Given the description of an element on the screen output the (x, y) to click on. 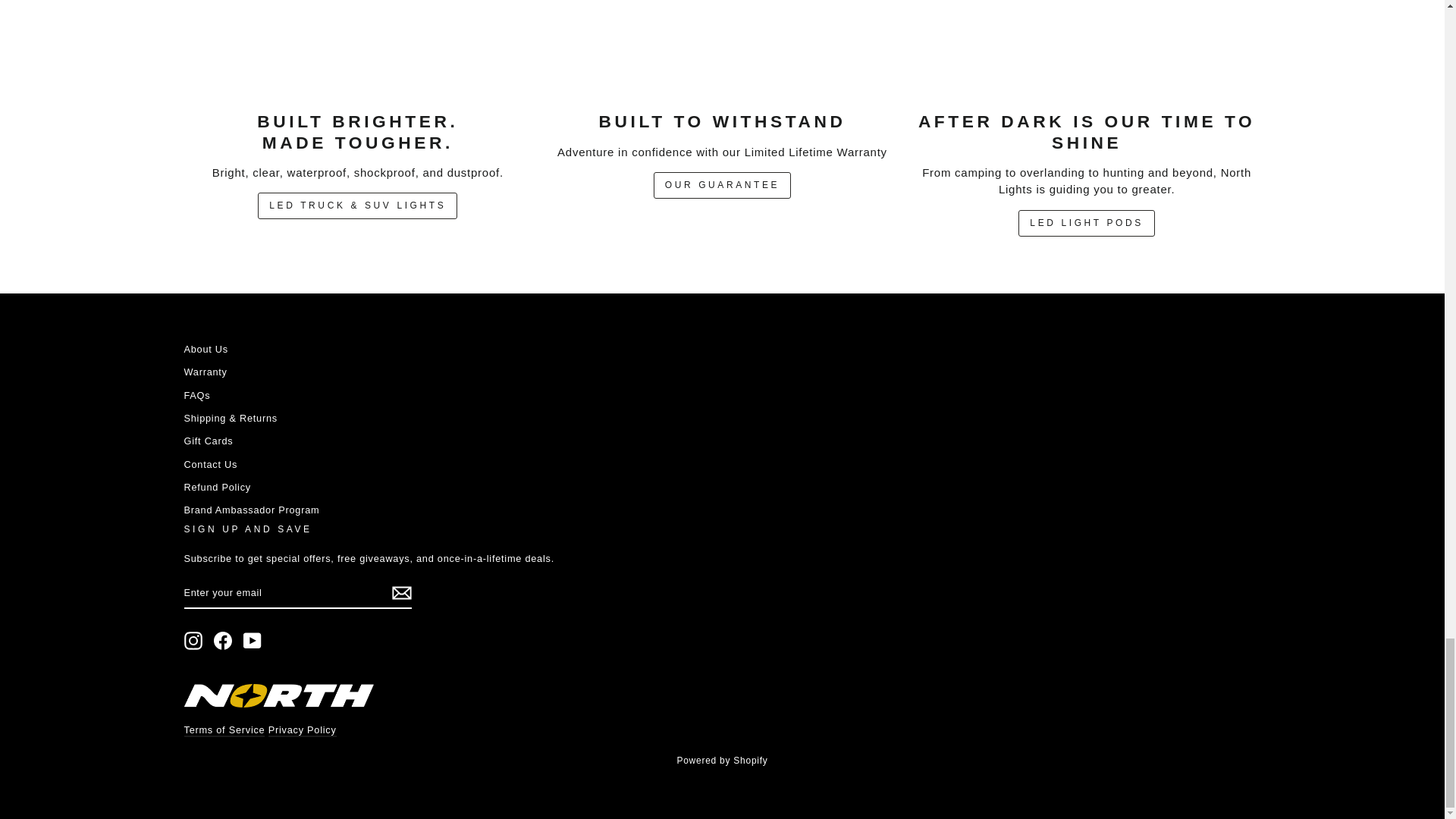
North Lights Co on Instagram (192, 640)
North Lights Co on YouTube (251, 640)
Terms of Service (223, 730)
North Lights Co on Facebook (222, 640)
Privacy Policy (301, 730)
